Given the description of an element on the screen output the (x, y) to click on. 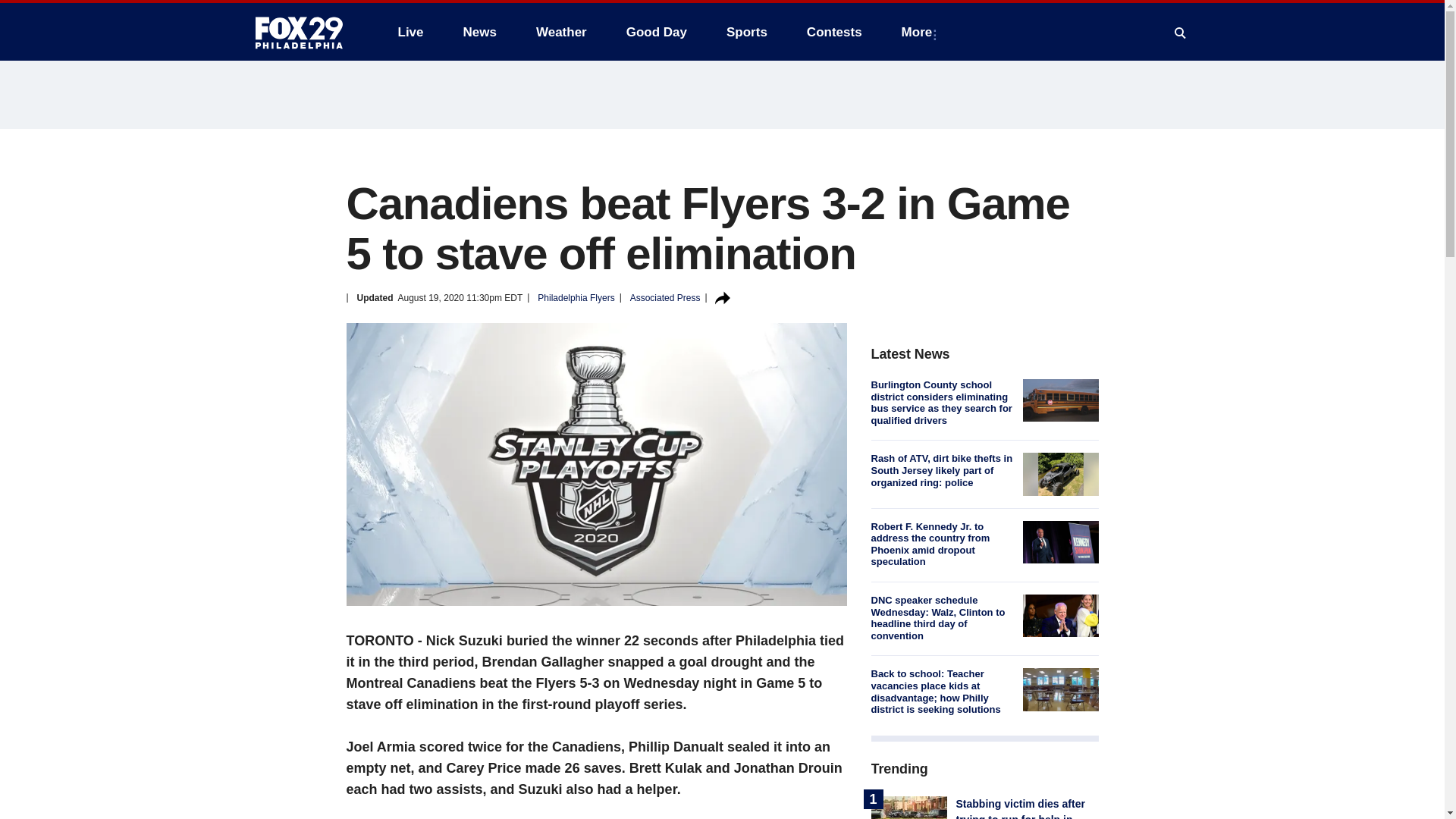
Good Day (656, 32)
Weather (561, 32)
Live (410, 32)
Sports (746, 32)
More (919, 32)
Contests (834, 32)
News (479, 32)
